Given the description of an element on the screen output the (x, y) to click on. 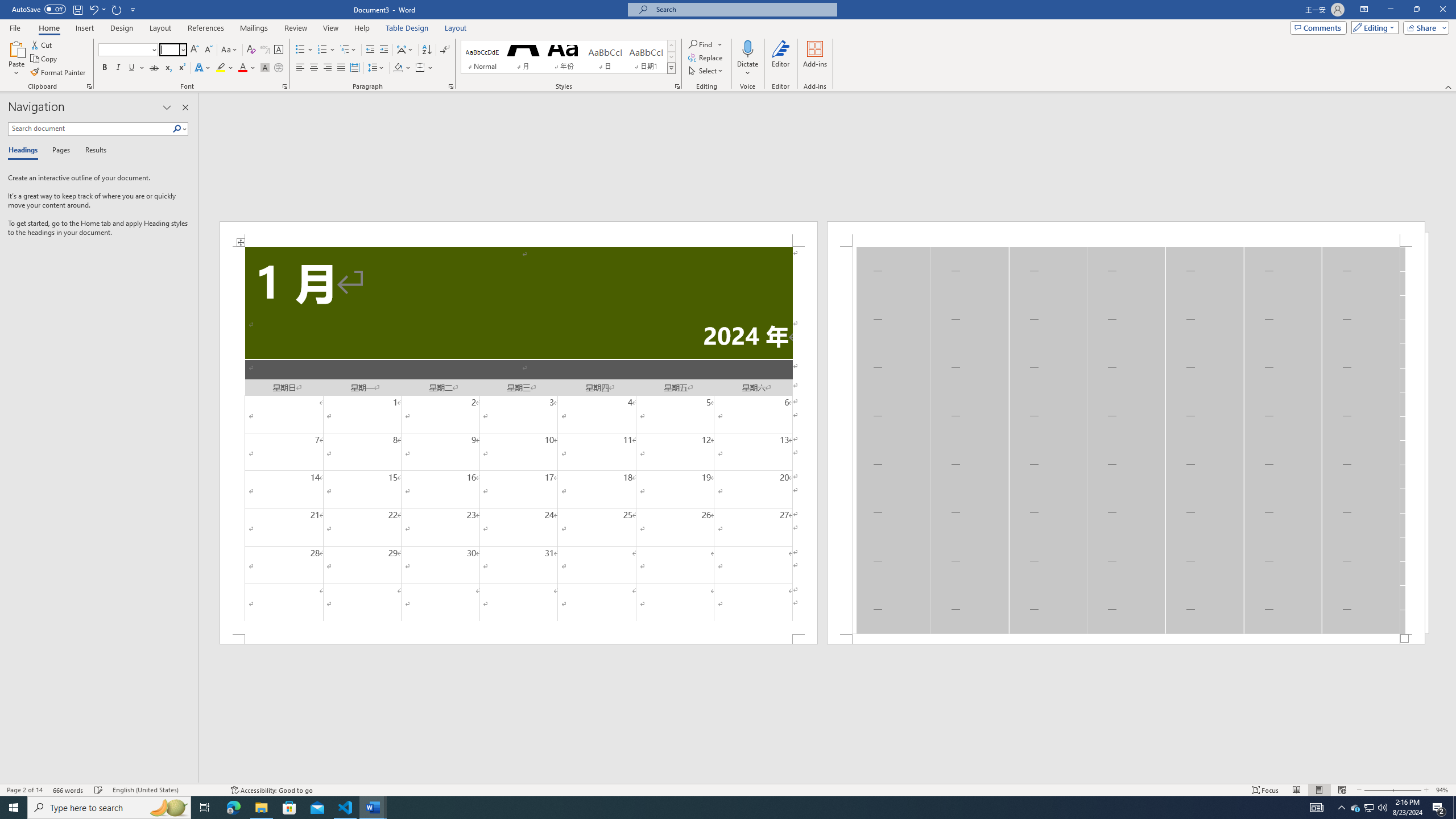
Font Color RGB(255, 0, 0) (241, 67)
